Given the description of an element on the screen output the (x, y) to click on. 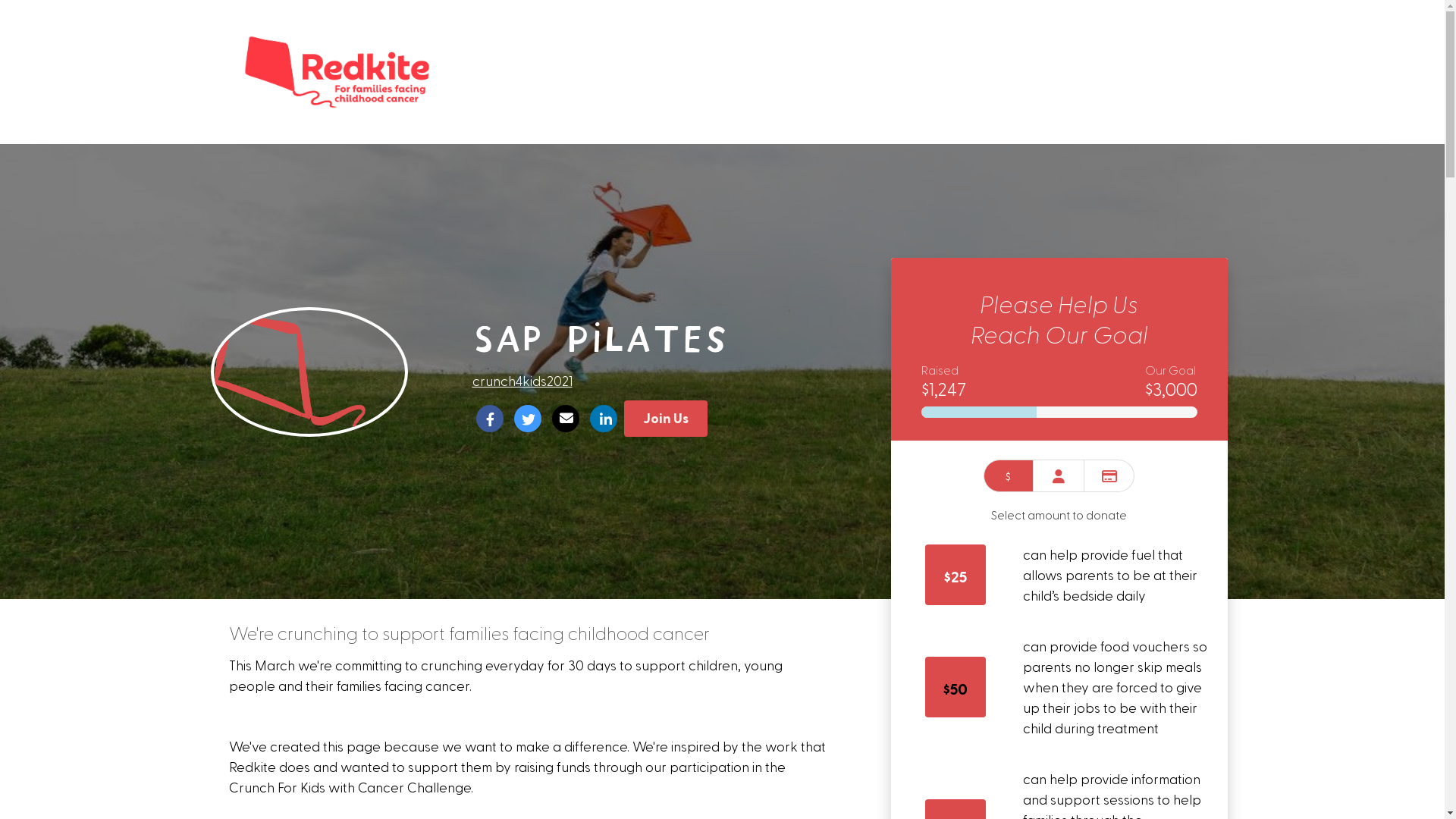
$ Element type: text (1008, 475)
crunch4kids2021 Element type: text (521, 380)
Join Us Element type: text (664, 418)
